Given the description of an element on the screen output the (x, y) to click on. 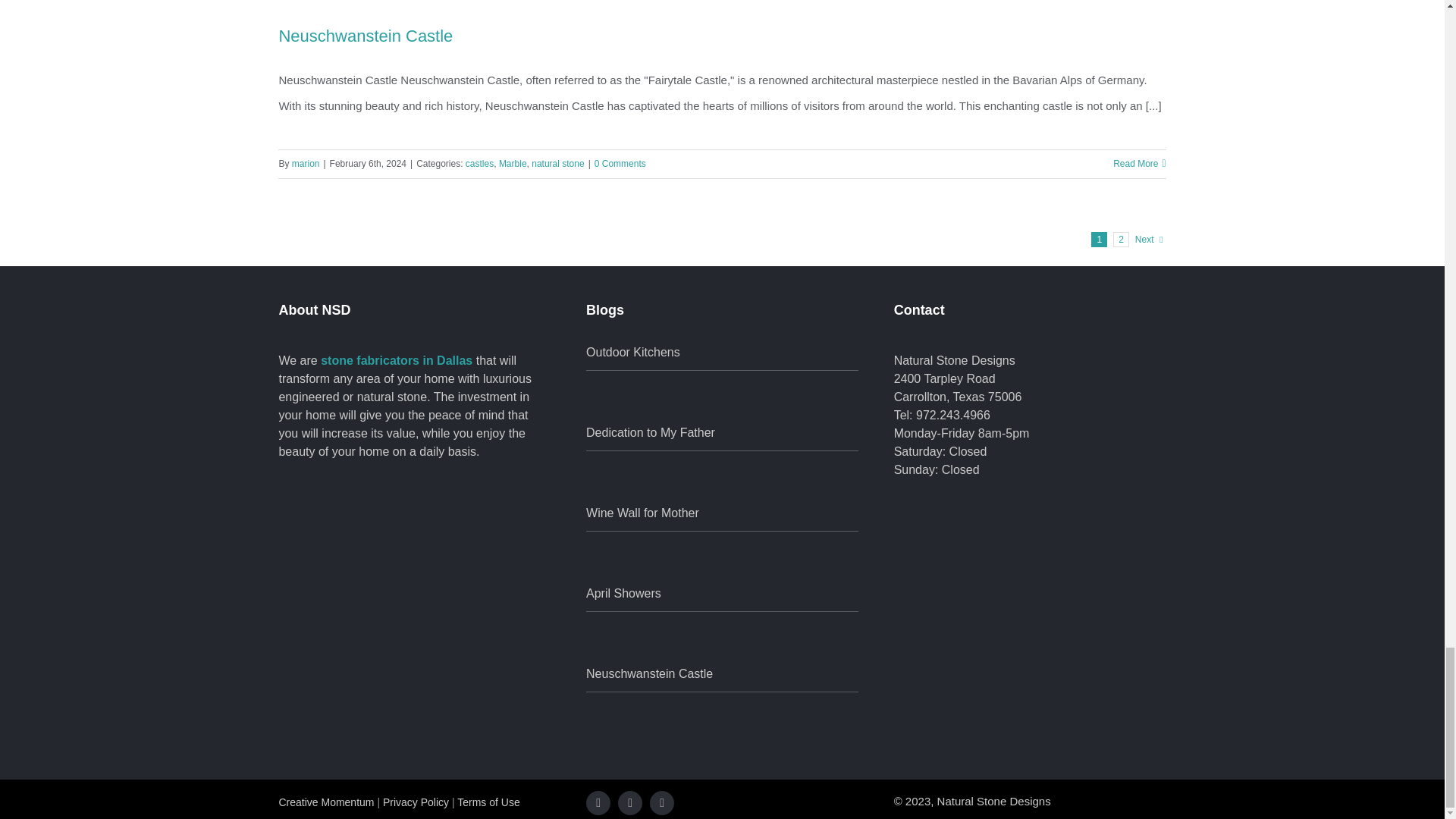
Posts by marion (306, 163)
Facebook (598, 802)
Instagram (629, 802)
YouTube (661, 802)
